Given the description of an element on the screen output the (x, y) to click on. 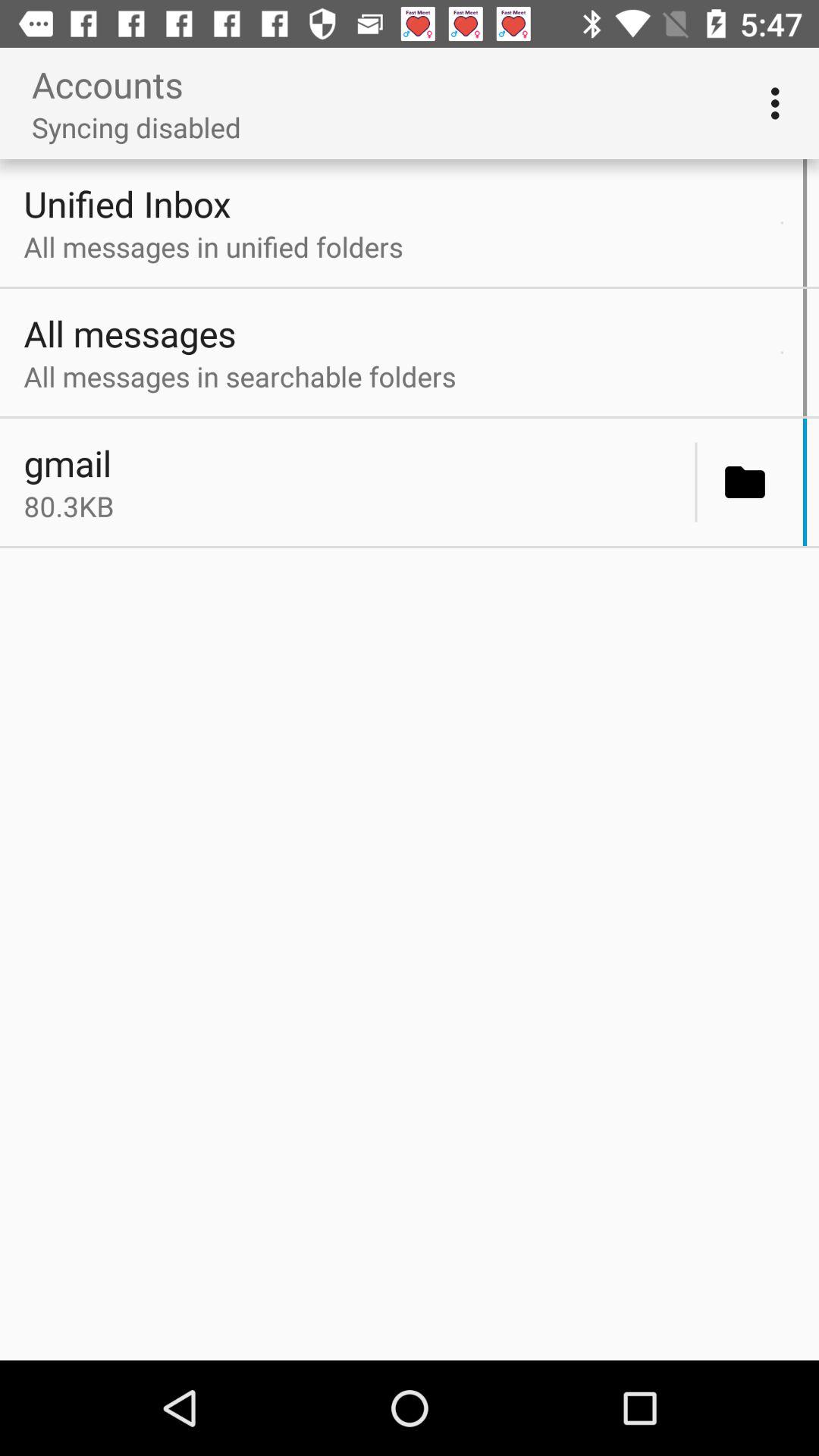
press gmail icon (355, 463)
